Given the description of an element on the screen output the (x, y) to click on. 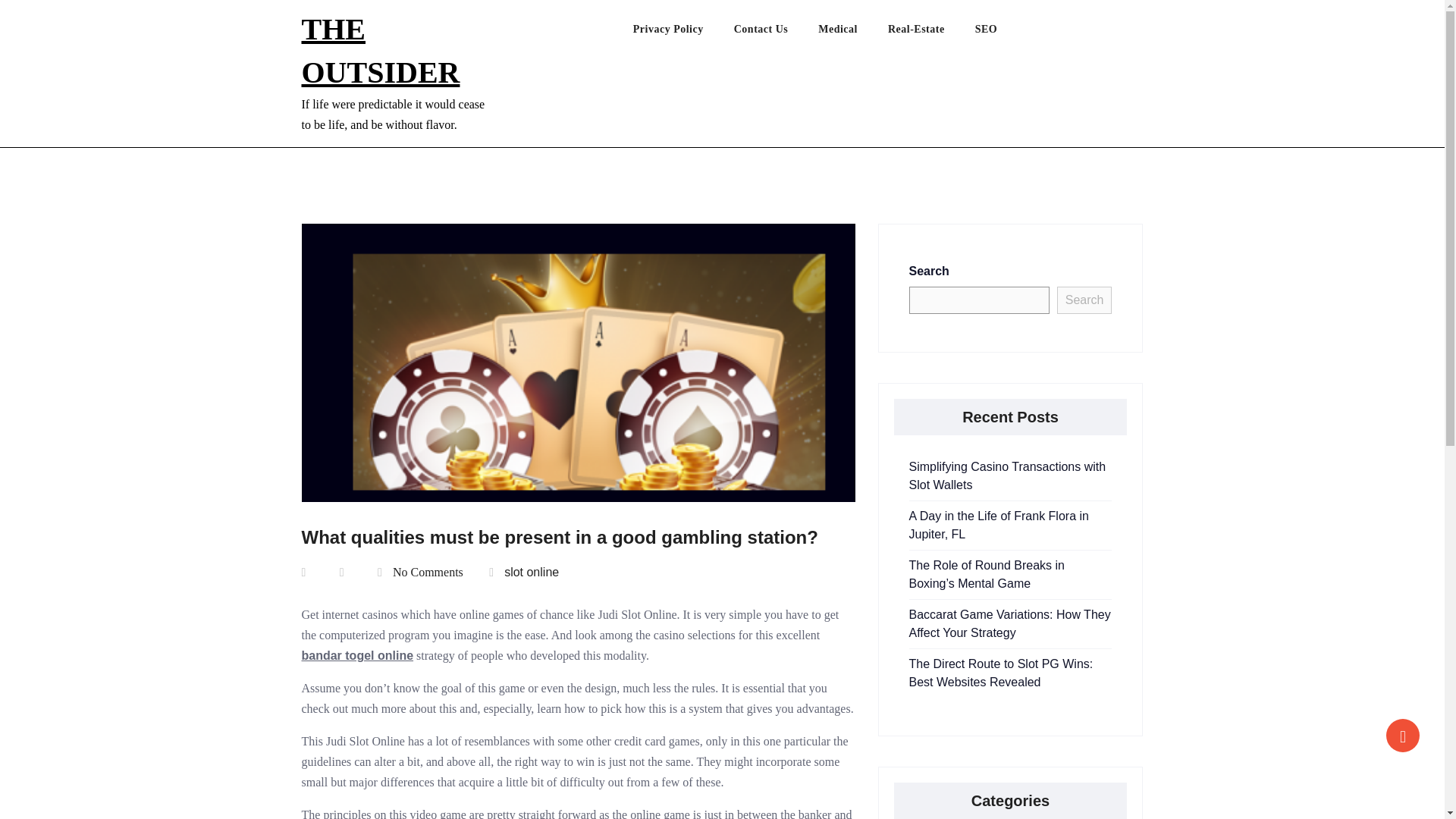
Real-Estate (931, 32)
Baccarat Game Variations: How They Affect Your Strategy (1008, 623)
slot online (531, 571)
Contact Us (775, 32)
Search (1084, 299)
The Direct Route to Slot PG Wins: Best Websites Revealed (1000, 672)
Medical (853, 32)
A Day in the Life of Frank Flora in Jupiter, FL (997, 524)
bandar togel online (357, 655)
SEO (1001, 32)
